Given the description of an element on the screen output the (x, y) to click on. 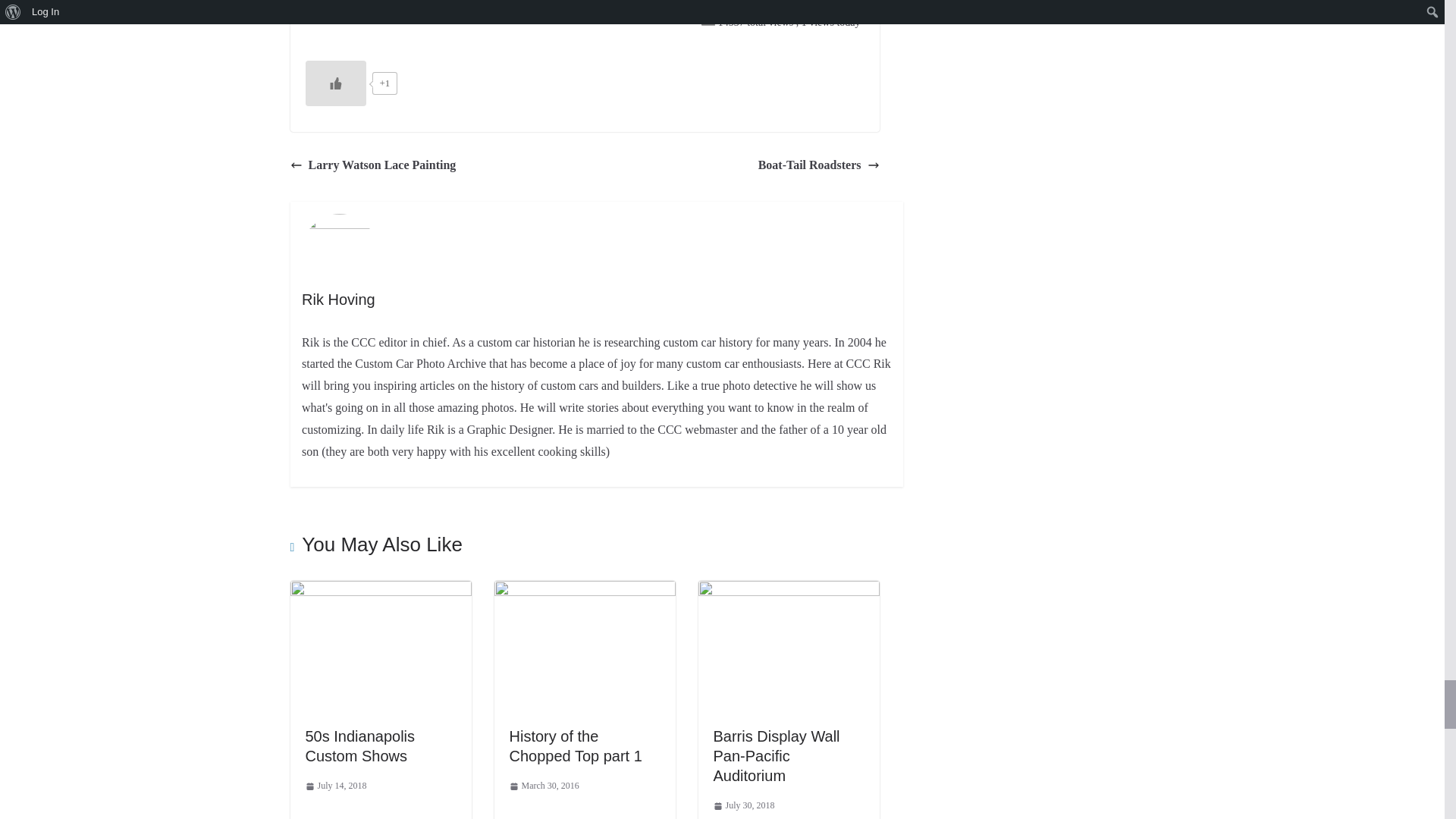
Barris Display Wall Pan-Pacific Auditorium (776, 755)
50s Indianapolis Custom Shows (379, 590)
History of the Chopped Top part 1 (575, 746)
09:06 (335, 786)
History of the Chopped Top part 1 (585, 590)
Barris Display Wall Pan-Pacific Auditorium (788, 590)
09:15 (544, 786)
50s Indianapolis Custom Shows (359, 746)
